Given the description of an element on the screen output the (x, y) to click on. 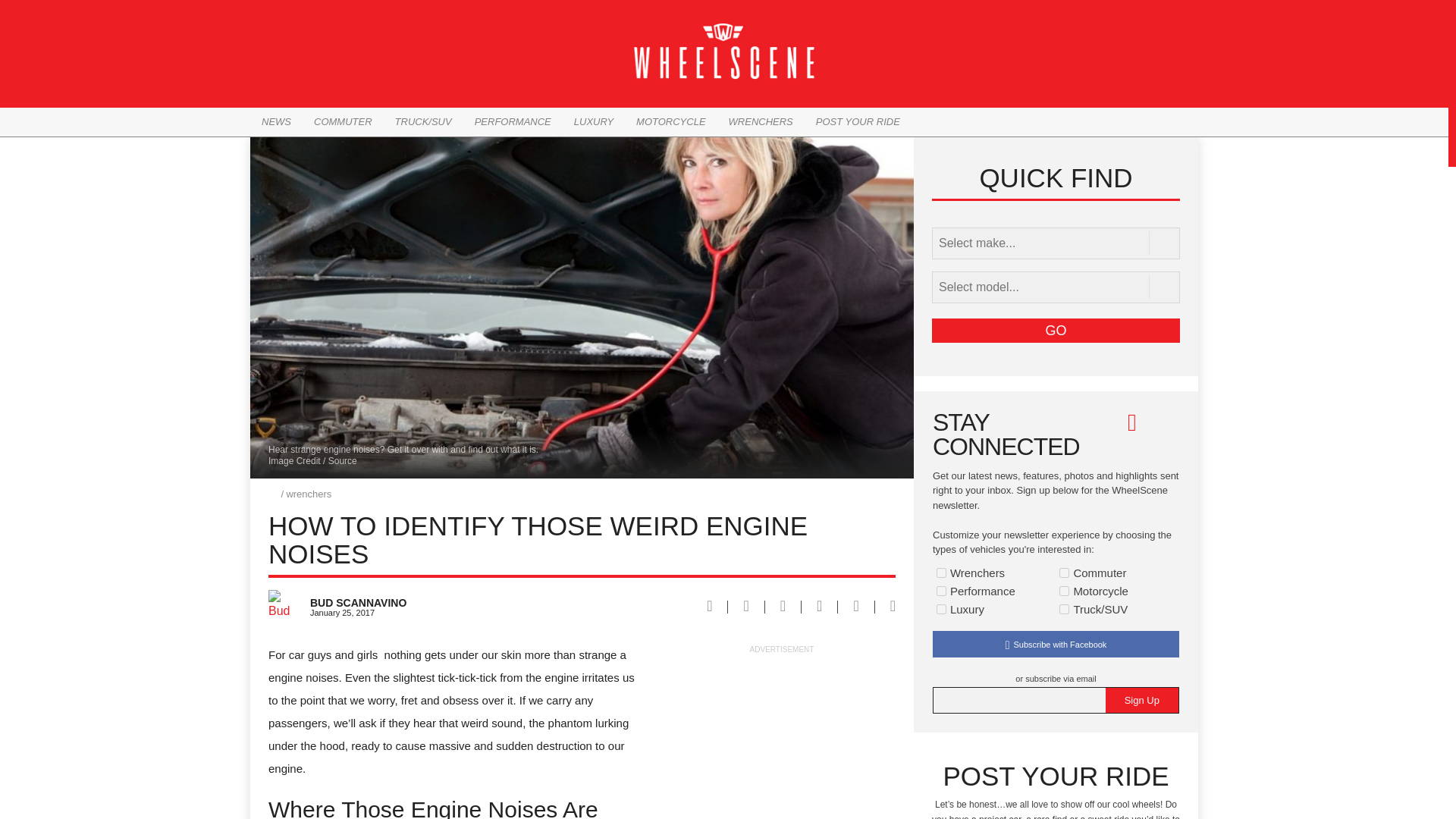
POST YOUR RIDE (857, 121)
LUXURY (592, 121)
wrenchers (309, 493)
WheelScene (274, 493)
WheelScene (723, 51)
BUD SCANNAVINO (435, 596)
WRENCHERS (761, 121)
Source (342, 460)
istockphoto.com (342, 460)
